Given the description of an element on the screen output the (x, y) to click on. 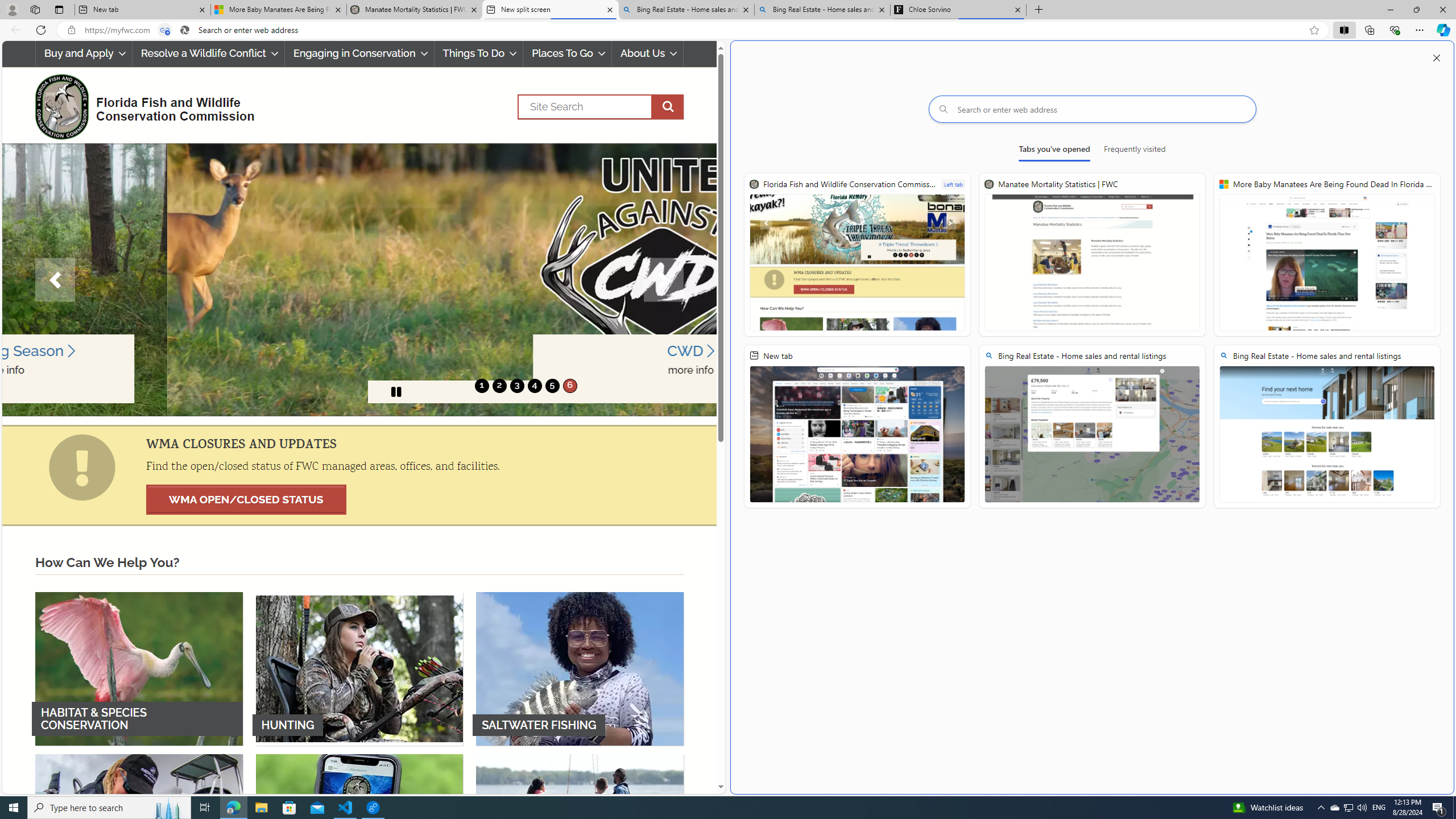
Places To Go (566, 53)
4 (534, 385)
Engaging in Conservation (358, 53)
Chloe Sorvino (957, 9)
FWC Logo Florida Fish and Wildlife Conservation Commission (139, 104)
SALTWATER FISHING (580, 668)
Close split screen (1436, 57)
Tabs you've opened (1054, 151)
move to slide 4 (534, 385)
